Given the description of an element on the screen output the (x, y) to click on. 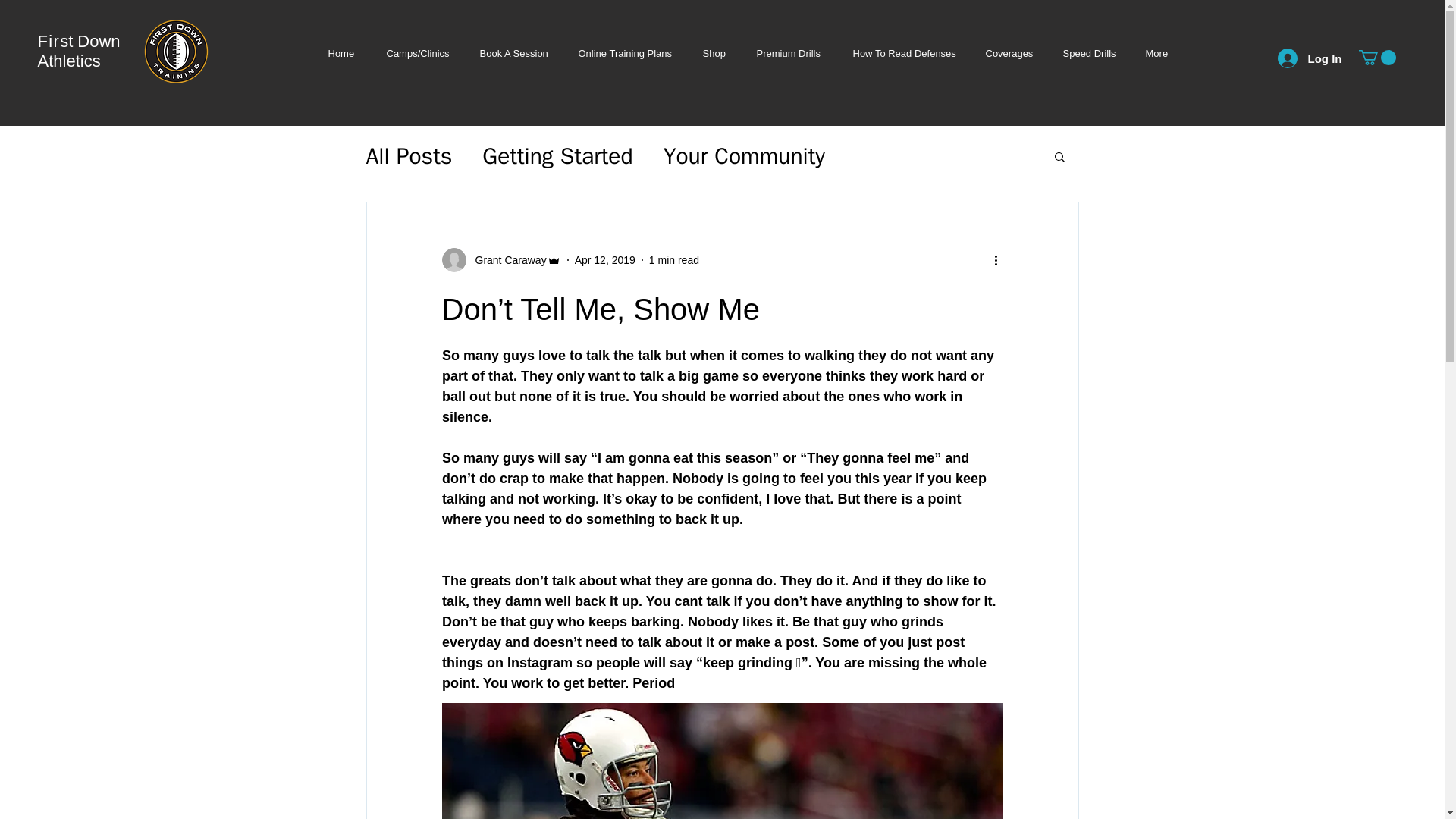
Shop (714, 53)
Premium Drills (789, 53)
Speed Drills (1089, 53)
Home (342, 53)
1 min read (673, 259)
Book A Session (513, 53)
Apr 12, 2019 (604, 259)
Coverages (1009, 53)
Fir (49, 40)
How To Read Defenses (903, 53)
Grant Caraway (505, 259)
Online Training Plans (624, 53)
